Given the description of an element on the screen output the (x, y) to click on. 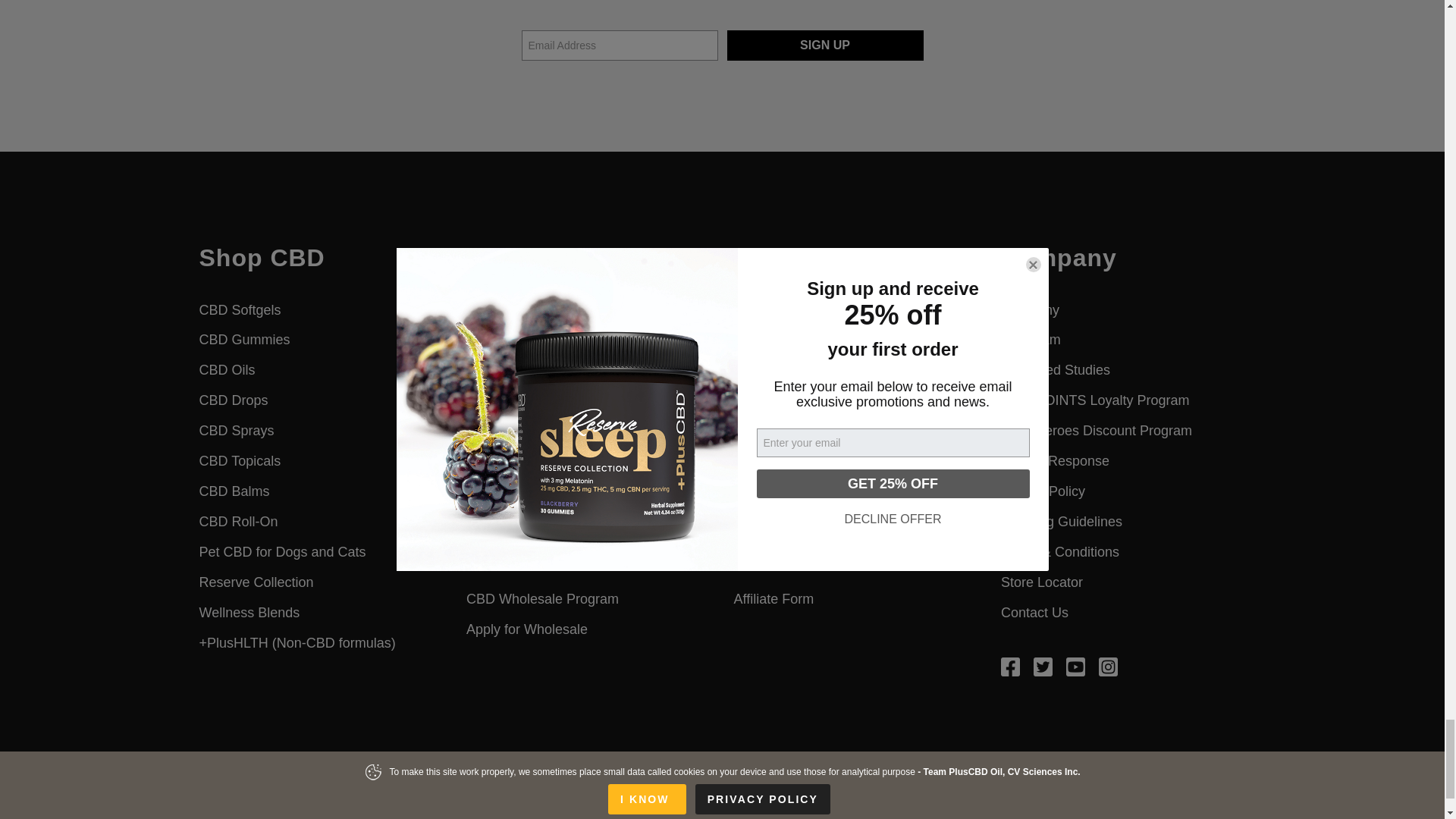
Facebook (1010, 665)
Twitter (1042, 665)
Youtube (1074, 665)
Instagram (1108, 665)
